Given the description of an element on the screen output the (x, y) to click on. 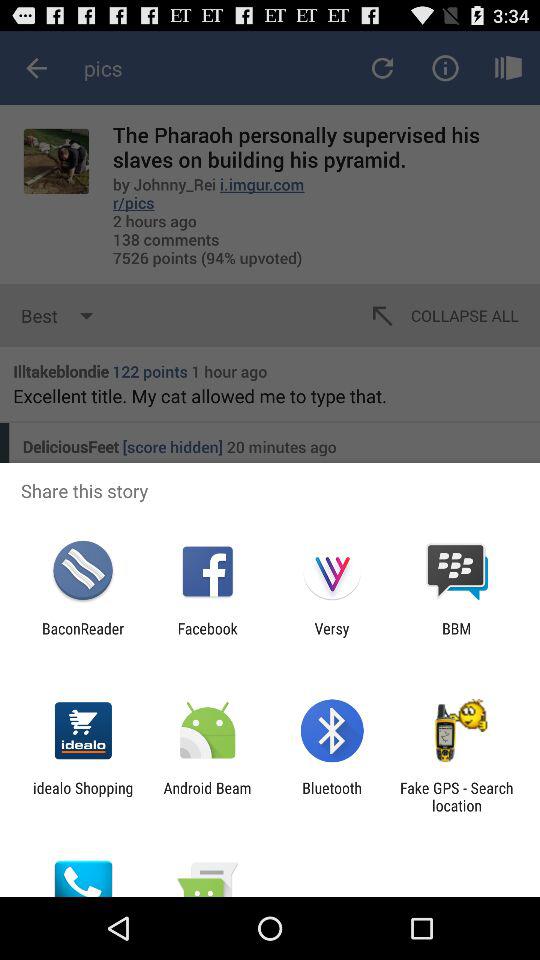
tap icon to the left of versy app (207, 637)
